Given the description of an element on the screen output the (x, y) to click on. 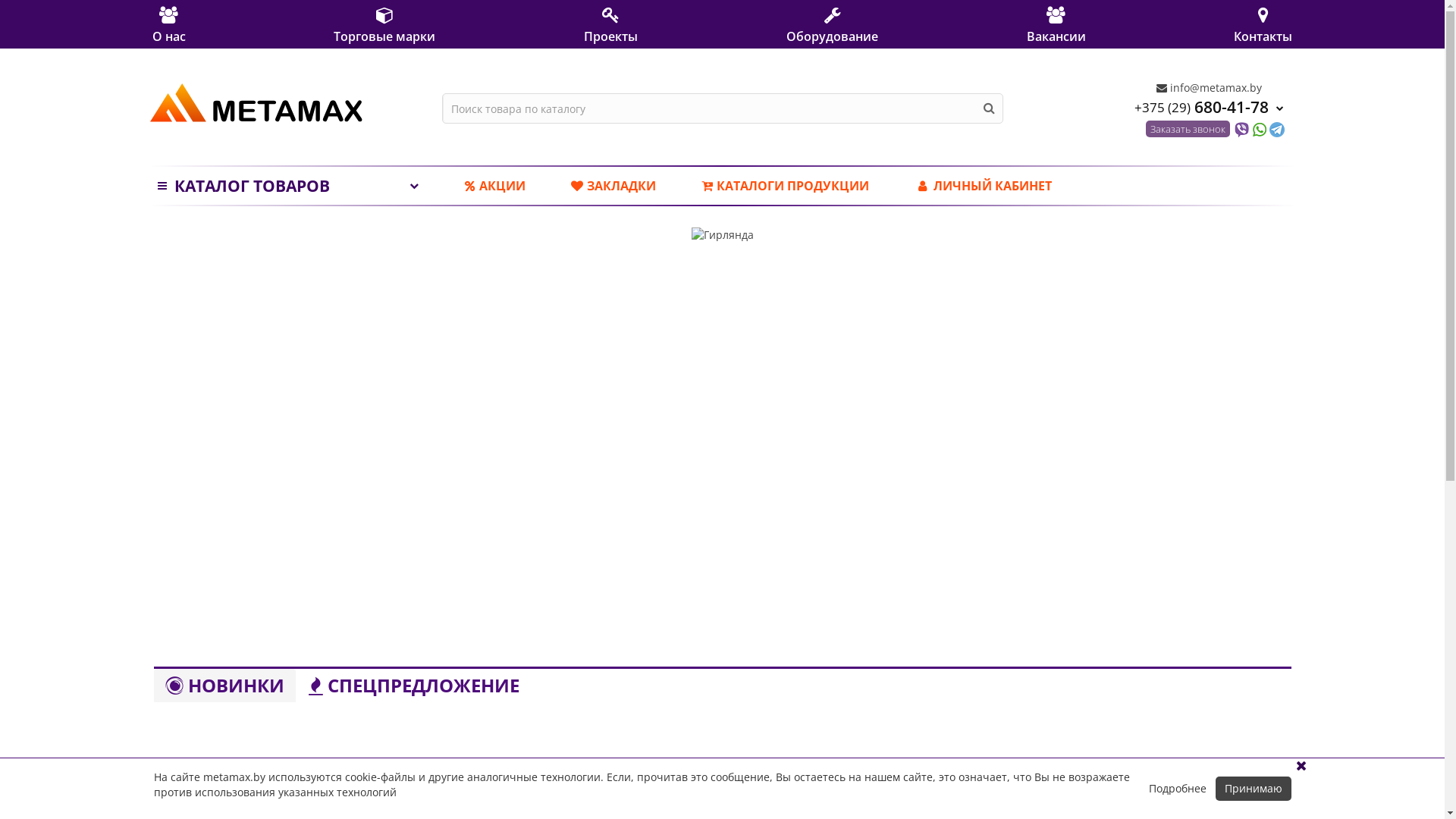
info@metamax.by Element type: text (1208, 87)
Metamax.by Element type: hover (256, 102)
+375 (29) 680-41-78 Element type: text (1208, 106)
